Given the description of an element on the screen output the (x, y) to click on. 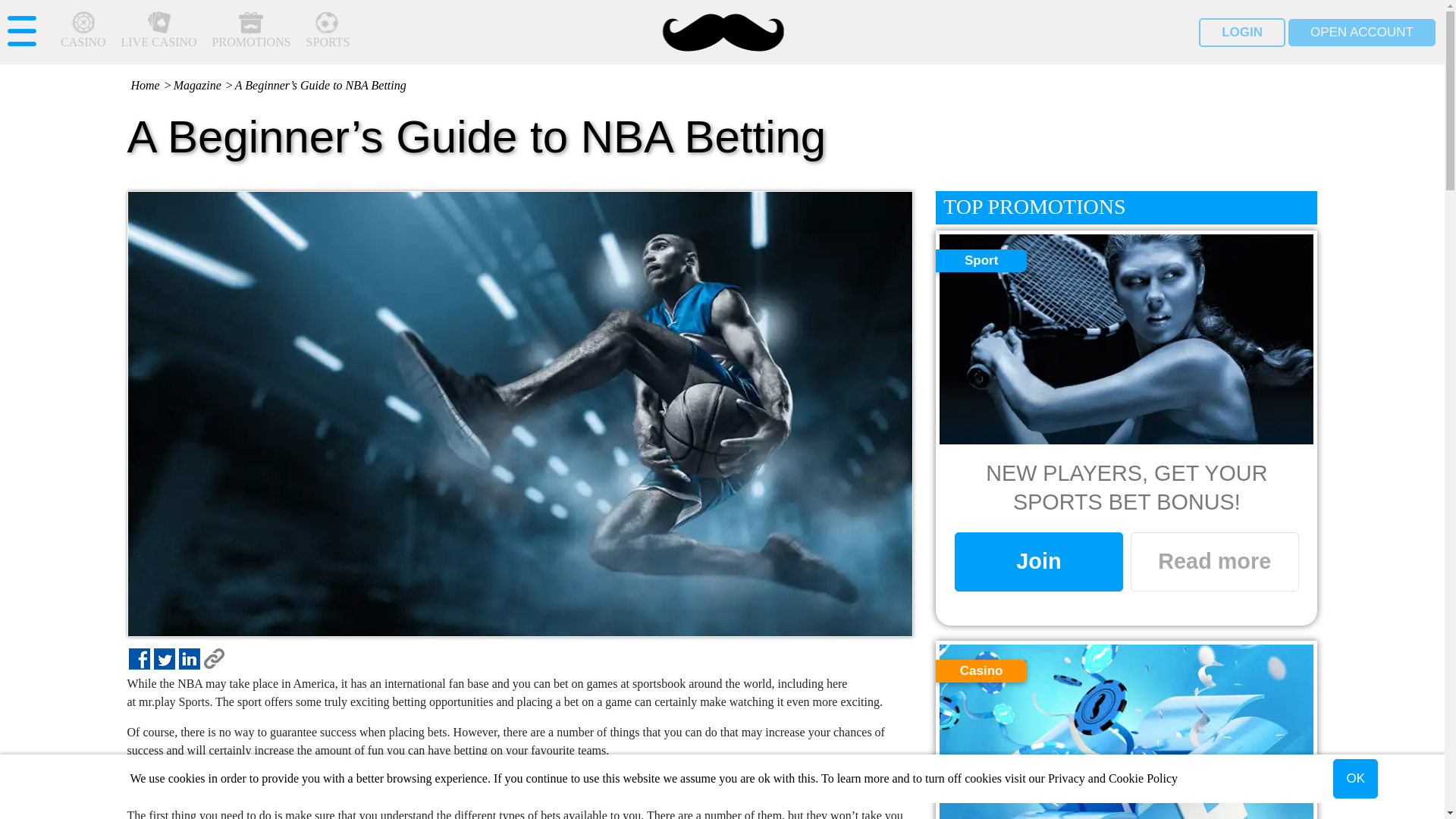
LOGIN (1241, 32)
LIVE CASINO (158, 33)
Share to Facebook (139, 658)
CASINO (83, 33)
Copy URL (214, 658)
OPEN ACCOUNT (1361, 31)
SPORTS (327, 33)
mrplay.com (722, 32)
PROMOTIONS (251, 33)
Share to Twitter (164, 658)
